Given the description of an element on the screen output the (x, y) to click on. 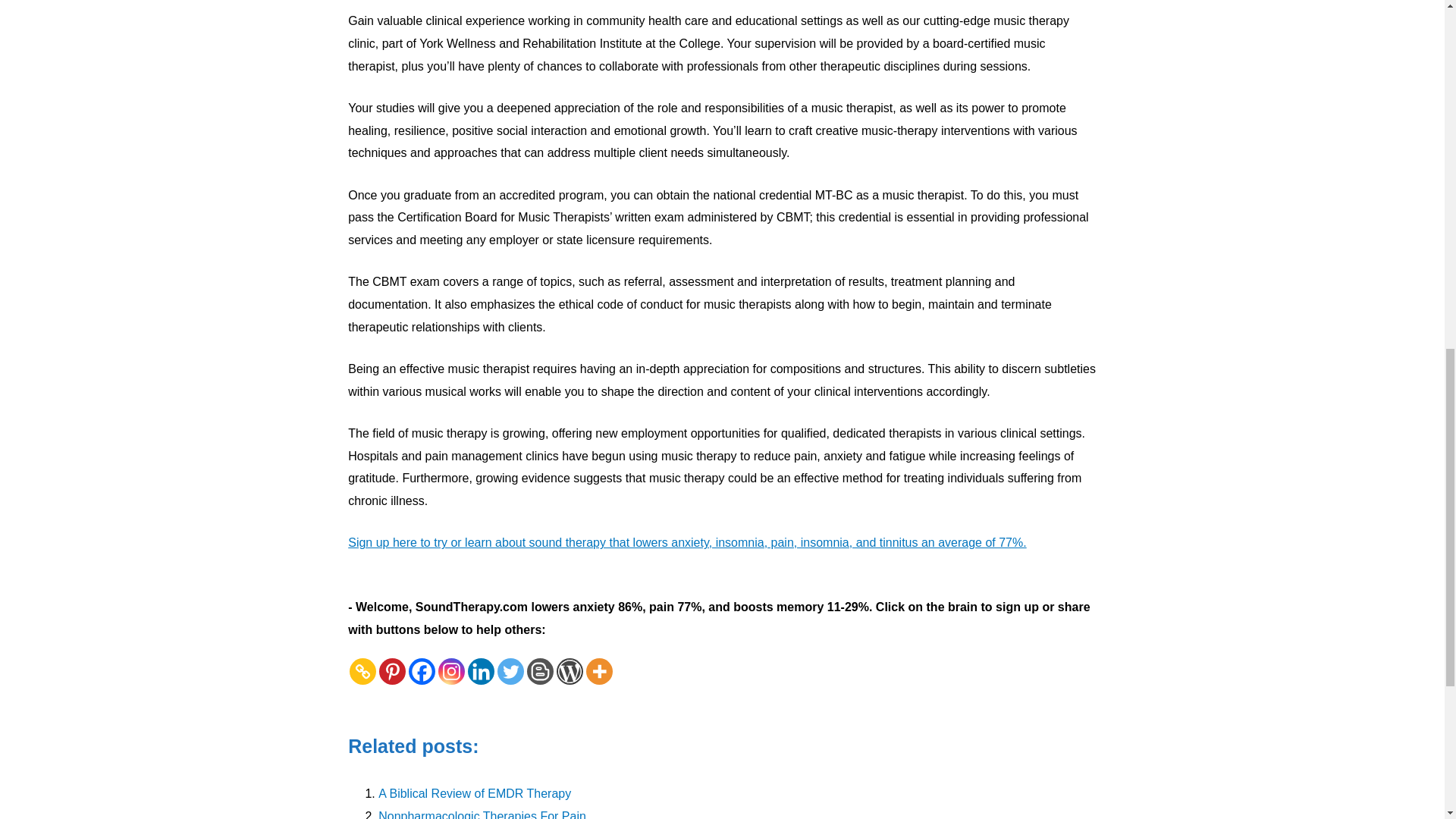
A Biblical Review of EMDR Therapy (474, 793)
Pinterest (392, 671)
Nonpharmacologic Therapies For Pain (482, 814)
Copy Link (362, 671)
